Given the description of an element on the screen output the (x, y) to click on. 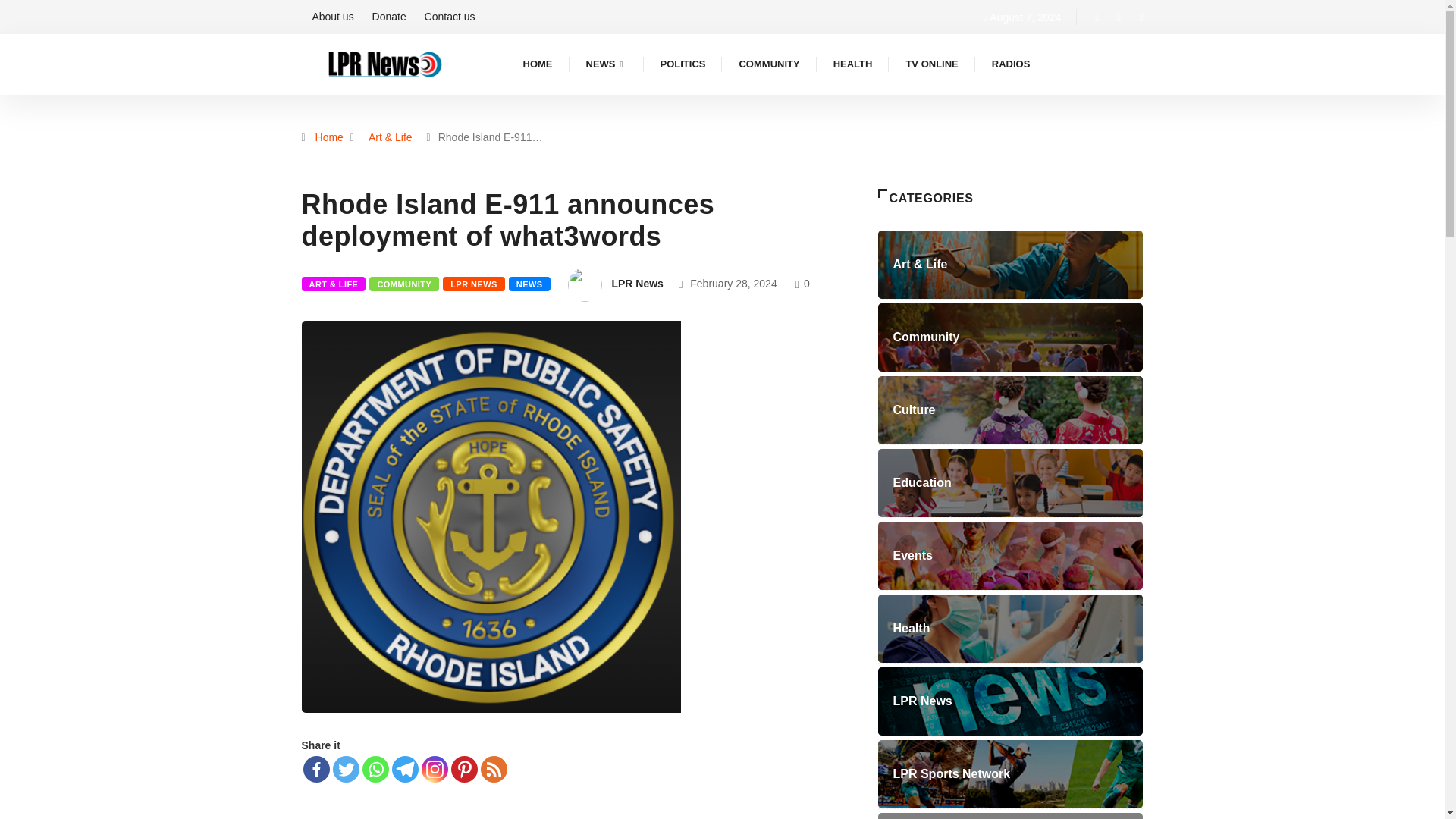
About us (332, 16)
Contact us (450, 16)
Donate (389, 16)
NEWS (529, 283)
LPR News (636, 283)
RADIOS (1010, 64)
NEWS (606, 64)
HEALTH (852, 64)
Twitter (344, 768)
LPR NEWS (473, 283)
HOME (537, 64)
COMMUNITY (404, 283)
Facebook (316, 768)
Instagram (435, 768)
Telegram (404, 768)
